Given the description of an element on the screen output the (x, y) to click on. 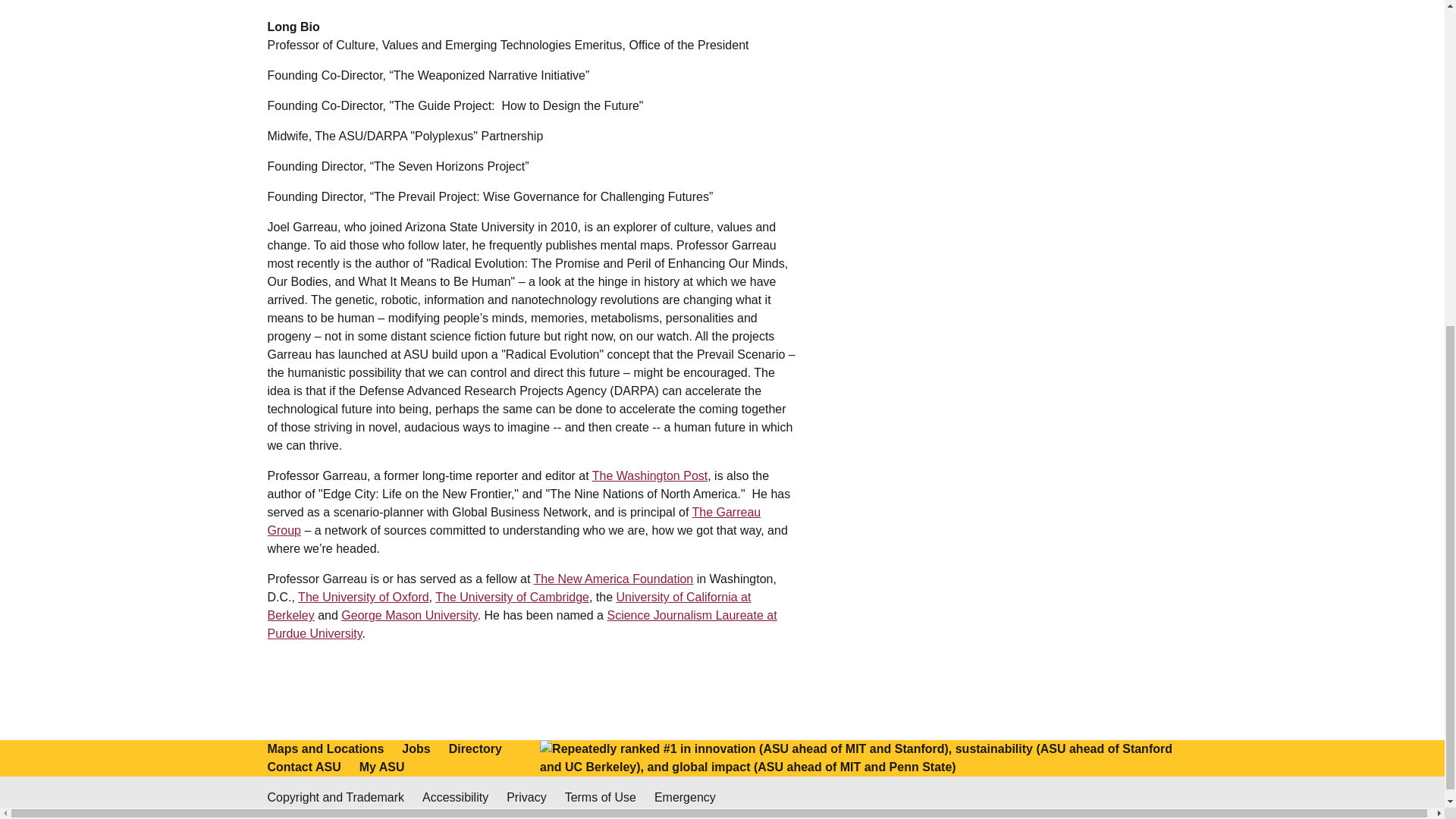
Science Journalism Laureate at Purdue University (521, 624)
The University of Oxford (363, 596)
The Garreau Group (513, 521)
Terms of Use (600, 797)
Maps and Locations (325, 749)
Emergency (684, 797)
Contact ASU (303, 767)
The University of Cambridge (512, 596)
Privacy (526, 797)
Copyright and Trademark (335, 797)
The Washington Post (649, 475)
My ASU (381, 767)
Accessibility (454, 797)
Jobs (415, 749)
University of California at Berkeley (508, 605)
